Given the description of an element on the screen output the (x, y) to click on. 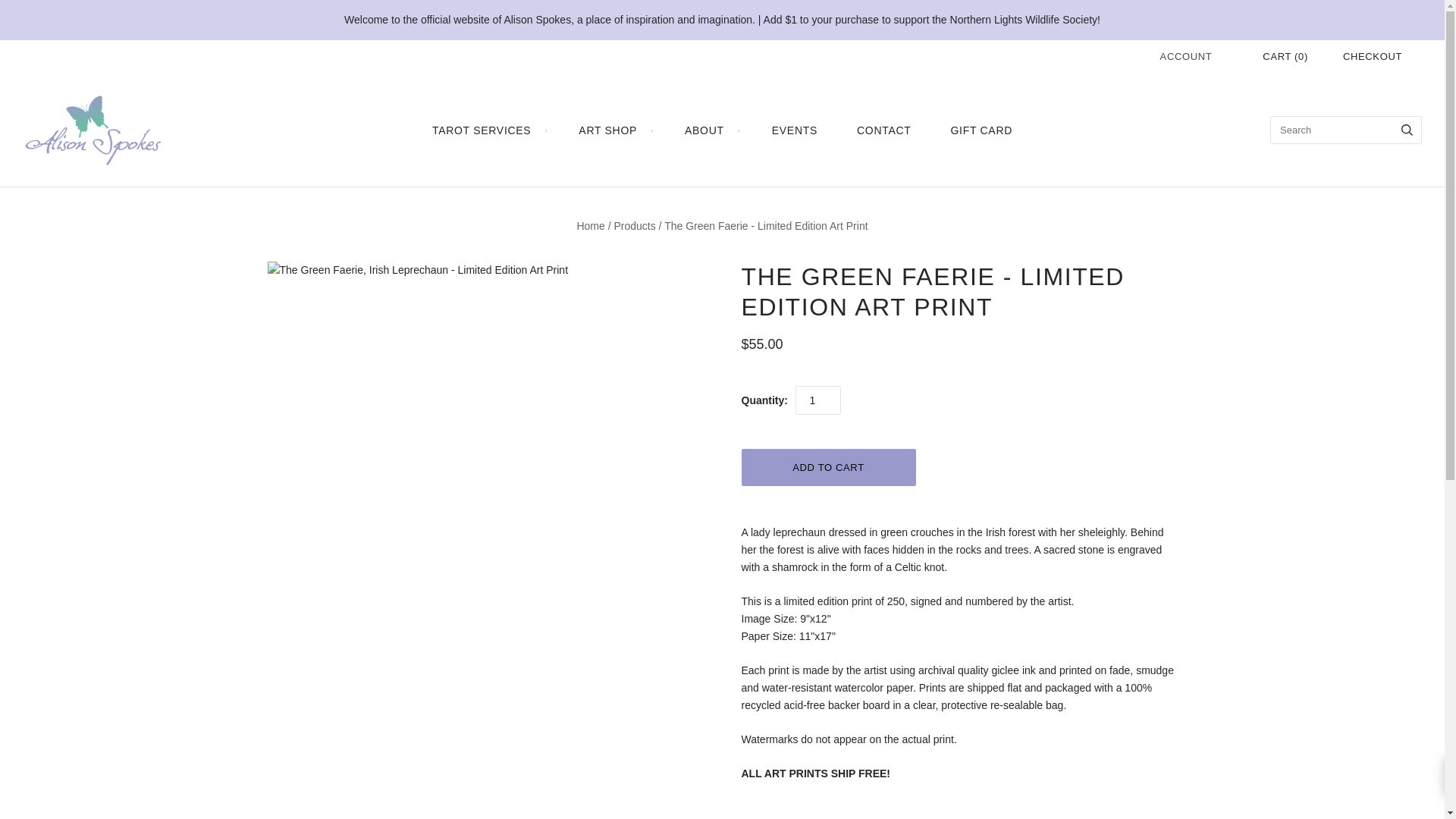
CHECKOUT (1372, 56)
ACCOUNT (1186, 56)
1 (817, 399)
Add to cart (828, 467)
